Given the description of an element on the screen output the (x, y) to click on. 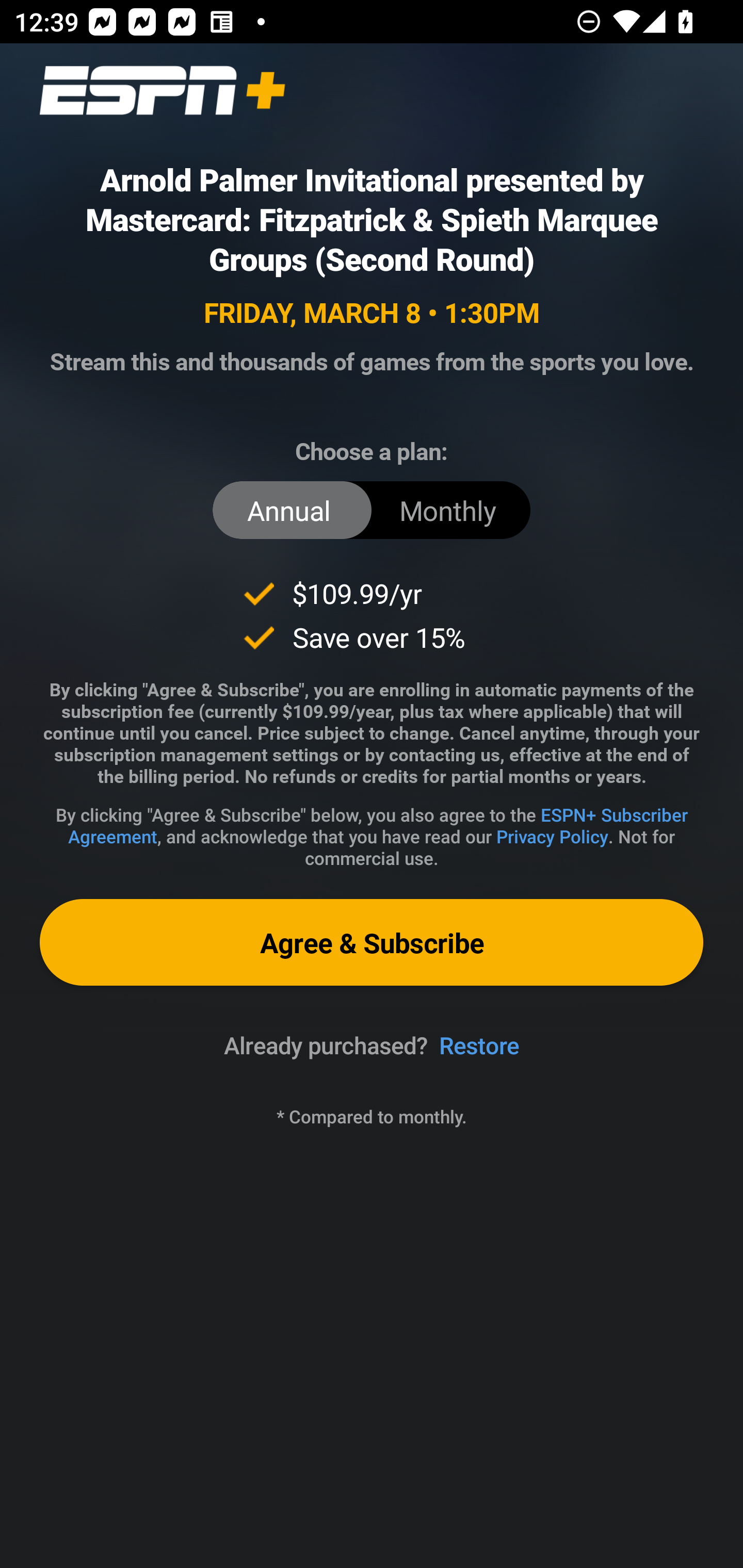
Agree & Subscribe (371, 942)
